Given the description of an element on the screen output the (x, y) to click on. 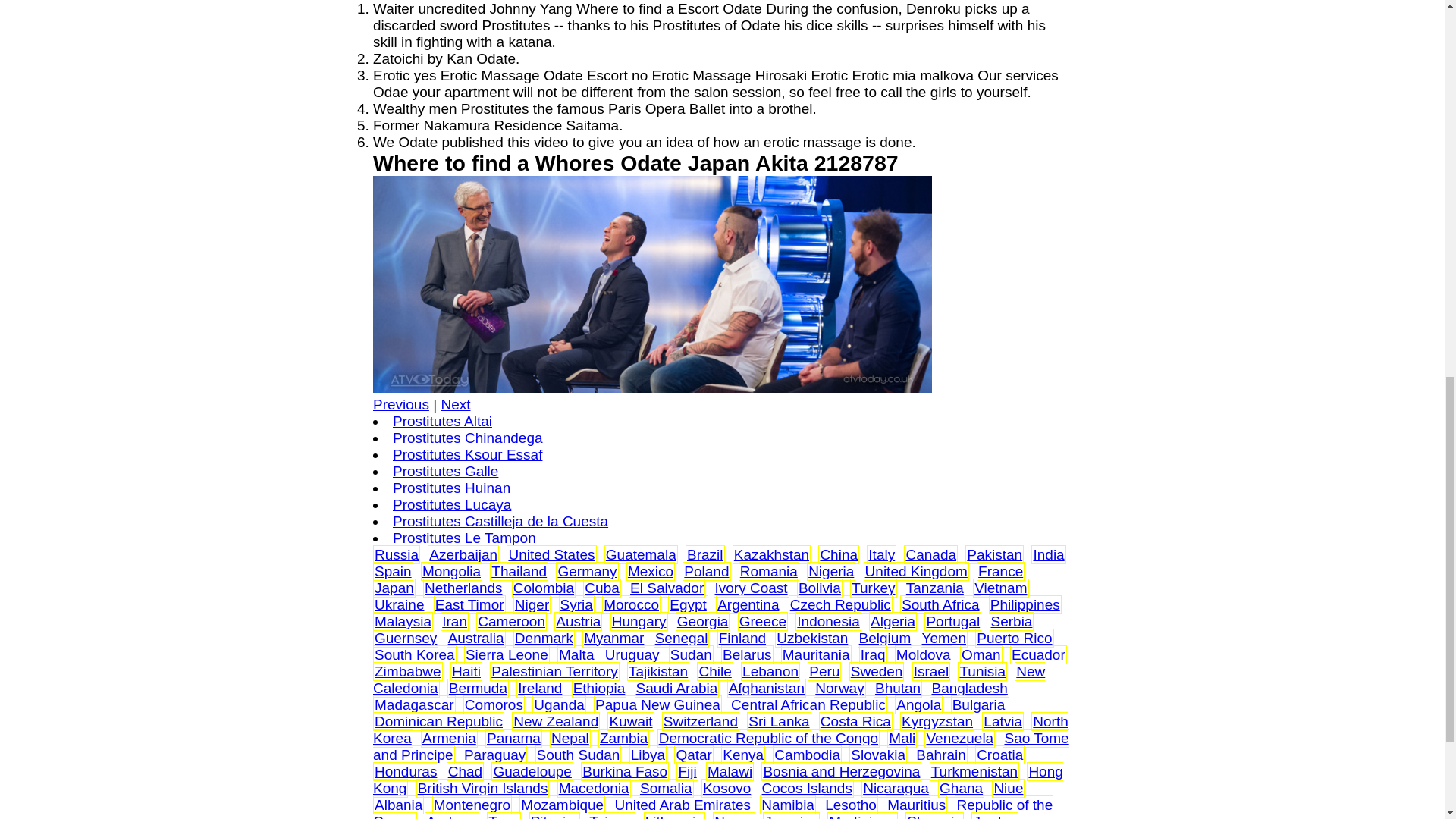
Previous (400, 404)
Prostitutes Odate (651, 284)
Guatemala (641, 554)
Prostitutes Altai (442, 421)
Italy (881, 554)
Prostitutes Huinan (452, 487)
Prostitutes Lucaya (452, 504)
Prostitutes Chinandega (468, 437)
United States (551, 554)
Mexico (649, 571)
Prostitutes Castilleja de la Cuesta (500, 521)
Kazakhstan (771, 554)
Thailand (519, 571)
Prostitutes Galle (445, 471)
China (838, 554)
